Given the description of an element on the screen output the (x, y) to click on. 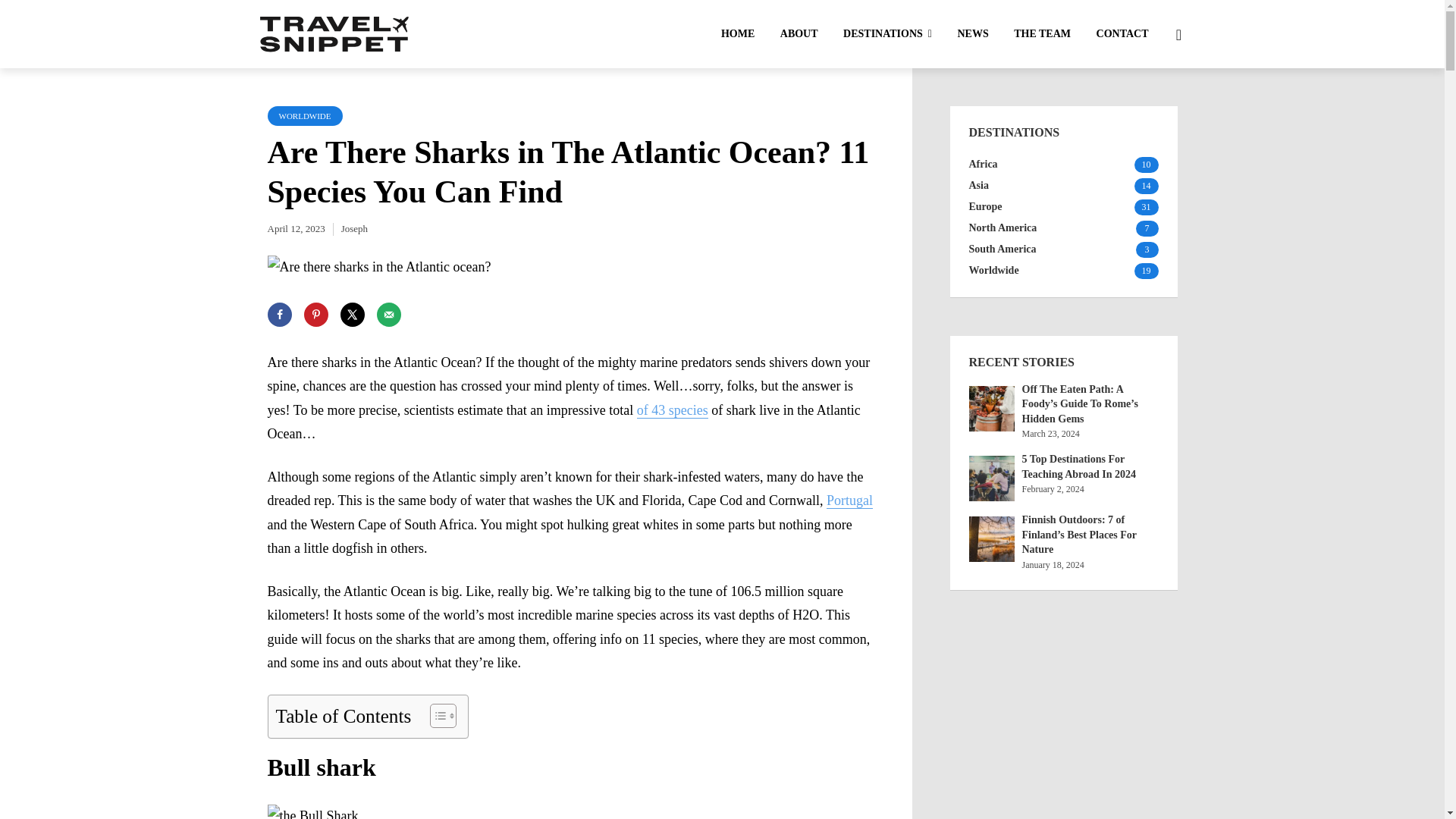
Portugal (849, 500)
Share on X (351, 314)
DESTINATIONS (887, 34)
Share on Facebook (278, 314)
Save to Pinterest (314, 314)
WORLDWIDE (304, 116)
THE TEAM (1041, 34)
ABOUT (799, 34)
Send over email (387, 314)
of 43 species (672, 409)
CONTACT (1122, 34)
Joseph (354, 228)
